Given the description of an element on the screen output the (x, y) to click on. 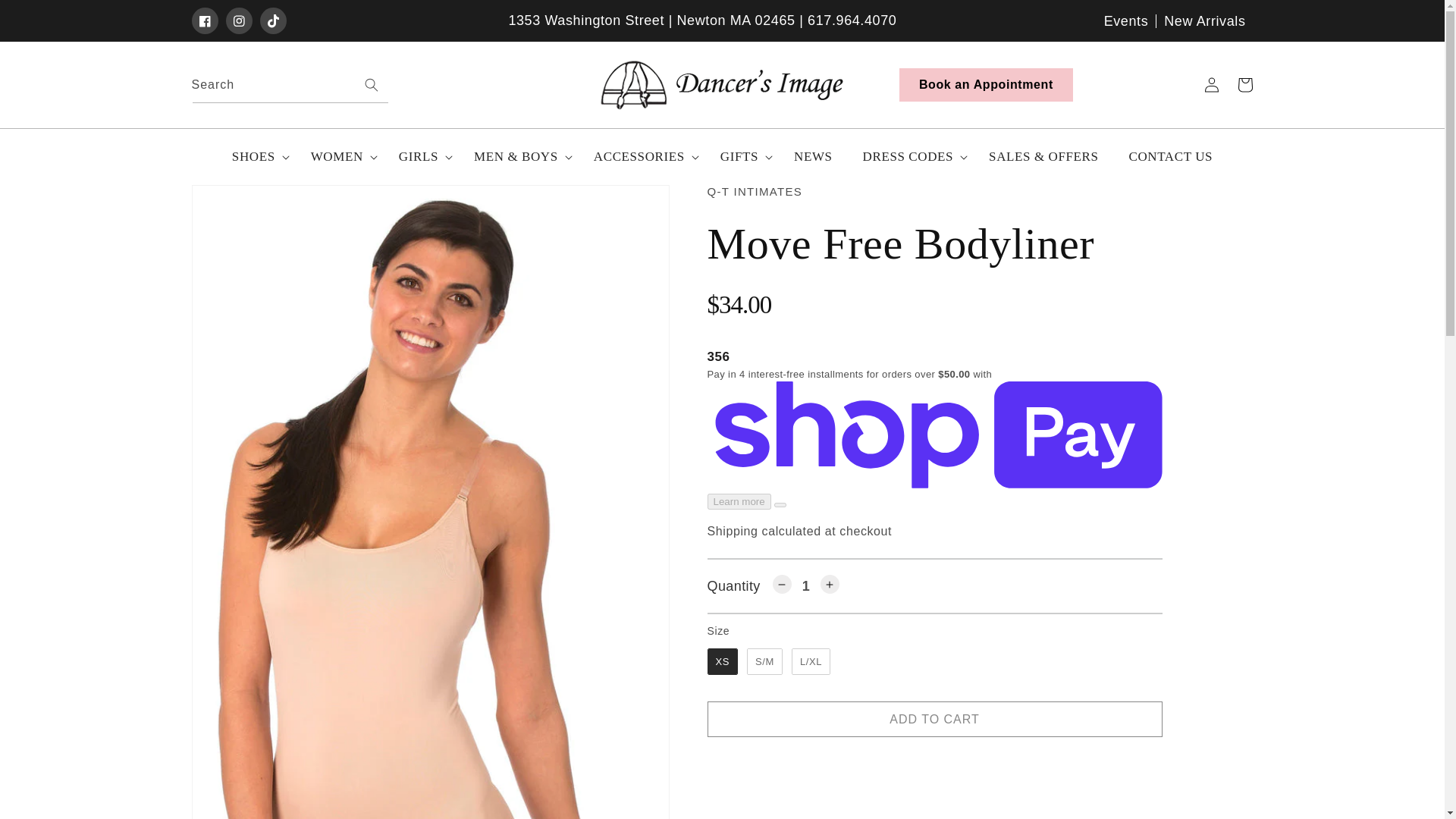
Instagram (238, 20)
New Arrivals (1204, 20)
Skip to content (45, 17)
Events (1126, 20)
Facebook (203, 20)
TikTok (272, 20)
1 (806, 585)
